Given the description of an element on the screen output the (x, y) to click on. 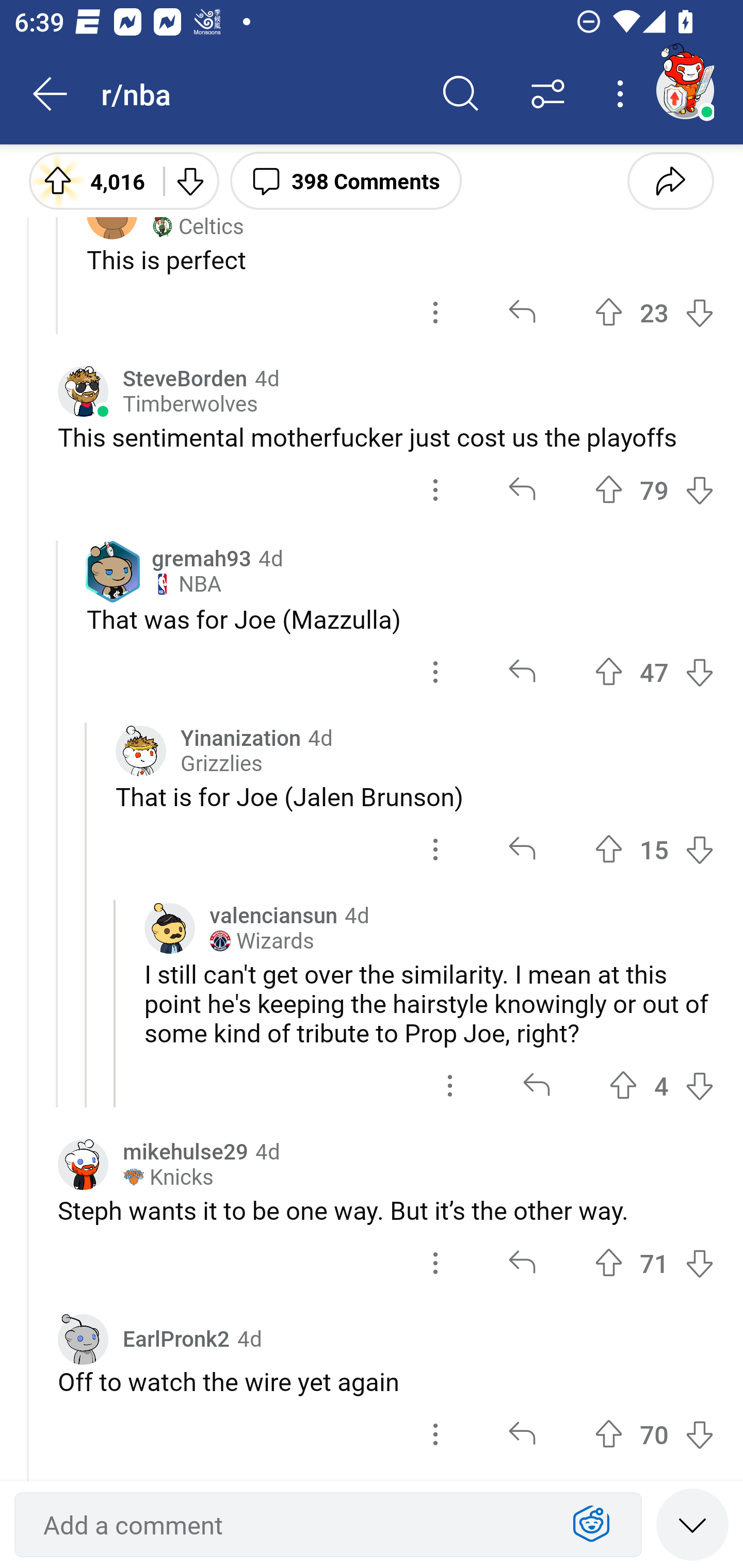
Back (50, 93)
TestAppium002 account (685, 90)
Search comments (460, 93)
Sort comments (547, 93)
More options (623, 93)
r/nba (259, 92)
Upvote 4,016 (88, 180)
Downvote (189, 180)
398 Comments (346, 180)
Share (670, 180)
This is perfect (400, 259)
options (435, 311)
Upvote 23 23 votes Downvote (654, 311)
Custom avatar (82, 391)
Timberwolves (190, 404)
options (435, 489)
Upvote 79 79 votes Downvote (654, 489)
￼ NBA (186, 583)
That was for Joe (Mazzulla) (400, 619)
options (435, 672)
Upvote 47 47 votes Downvote (654, 672)
Custom avatar (140, 750)
Grizzlies (221, 763)
That is for Joe (Jalen Brunson) (414, 796)
options (435, 849)
Upvote 15 15 votes Downvote (654, 849)
Custom avatar (169, 928)
￼ Wizards (261, 940)
options (449, 1084)
Upvote 4 4 votes Downvote (661, 1084)
Custom avatar (82, 1164)
￼ Knicks (167, 1177)
options (435, 1263)
Upvote 71 71 votes Downvote (654, 1263)
Custom avatar (82, 1338)
Off to watch the wire yet again (385, 1381)
options (435, 1434)
Upvote 70 70 votes Downvote (654, 1434)
Speed read (692, 1524)
Add a comment (291, 1524)
Show Expressions (590, 1524)
